Given the description of an element on the screen output the (x, y) to click on. 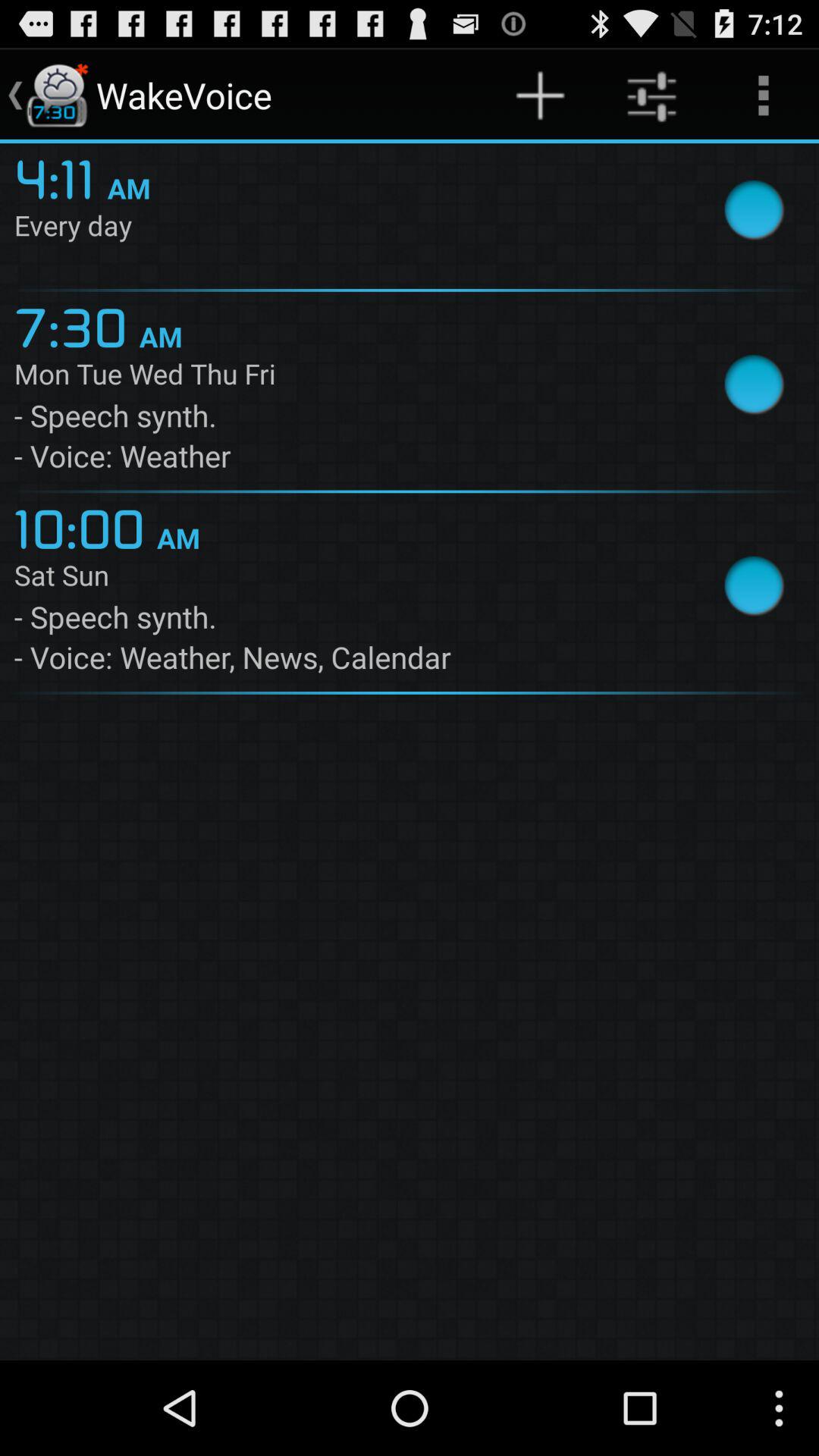
press app next to am item (60, 176)
